Given the description of an element on the screen output the (x, y) to click on. 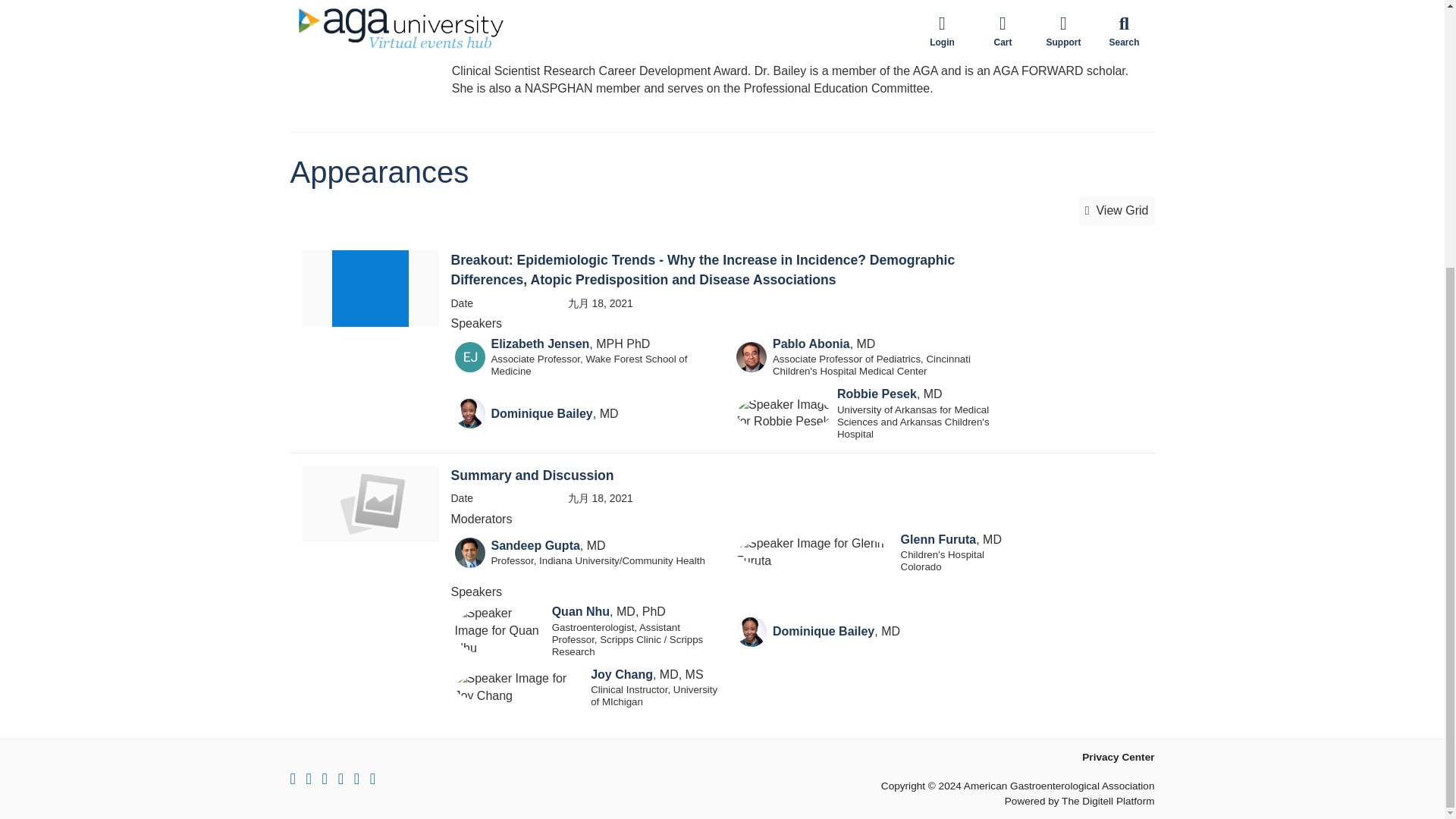
Speaker Image for Robbie Pesek (783, 413)
Robbie Pesek (877, 393)
Speaker Image for Elizabeth Jensen (469, 357)
Dominique Bailey (542, 413)
Quan Nhu (580, 611)
Glenn Furuta (938, 539)
Speaker Image for Sandeep Gupta (469, 552)
Sandeep Gupta (535, 545)
Speaker Image for Glenn Furuta (815, 552)
Speaker Image for Dominique Bailey (469, 413)
